Given the description of an element on the screen output the (x, y) to click on. 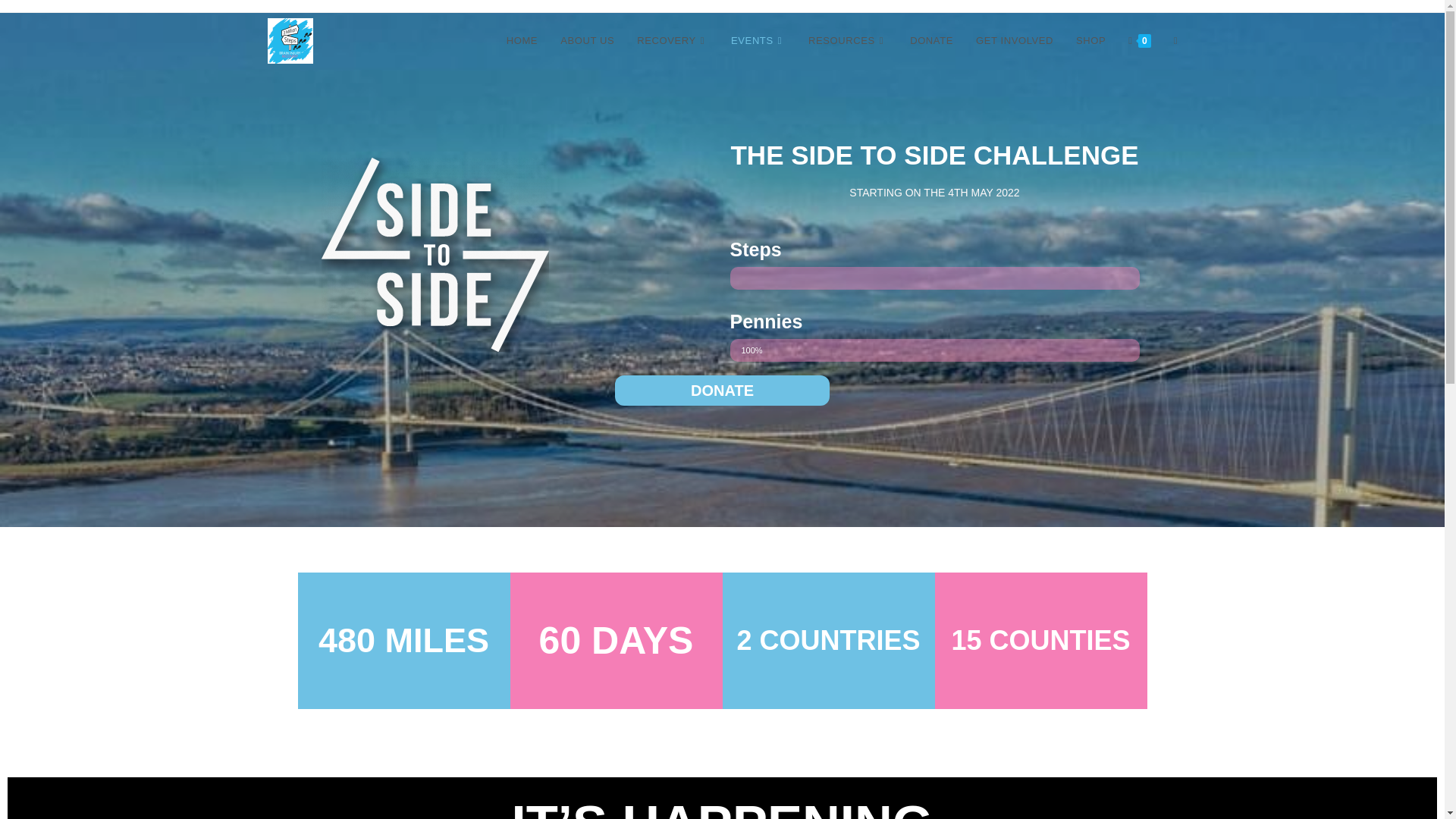
EVENTS (757, 40)
GET INVOLVED (1013, 40)
ABOUT US (587, 40)
DONATE (930, 40)
SHOP (1090, 40)
RECOVERY (672, 40)
RESOURCES (847, 40)
HOME (521, 40)
